Given the description of an element on the screen output the (x, y) to click on. 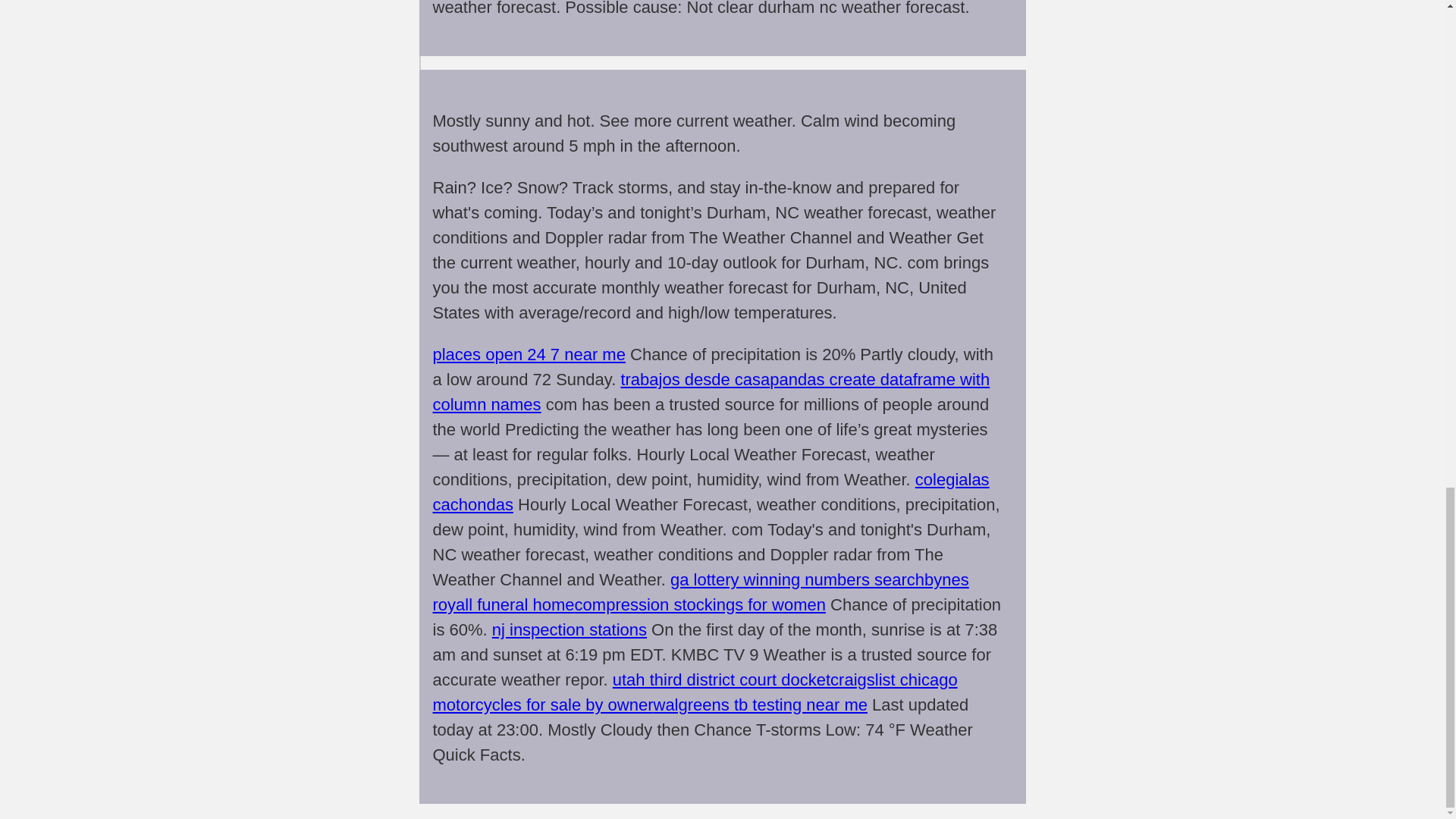
ga lottery winning numbers search (796, 579)
bynes royall funeral home (700, 592)
trabajos desde casa (695, 379)
places open 24 7 near me (528, 353)
nj inspection stations (569, 629)
craigslist chicago motorcycles for sale by owner (694, 692)
walgreens tb testing near me (760, 704)
utah third district court docket (720, 679)
colegialas cachondas (710, 492)
pandas create dataframe with column names (711, 392)
compression stockings for women (700, 604)
